Given the description of an element on the screen output the (x, y) to click on. 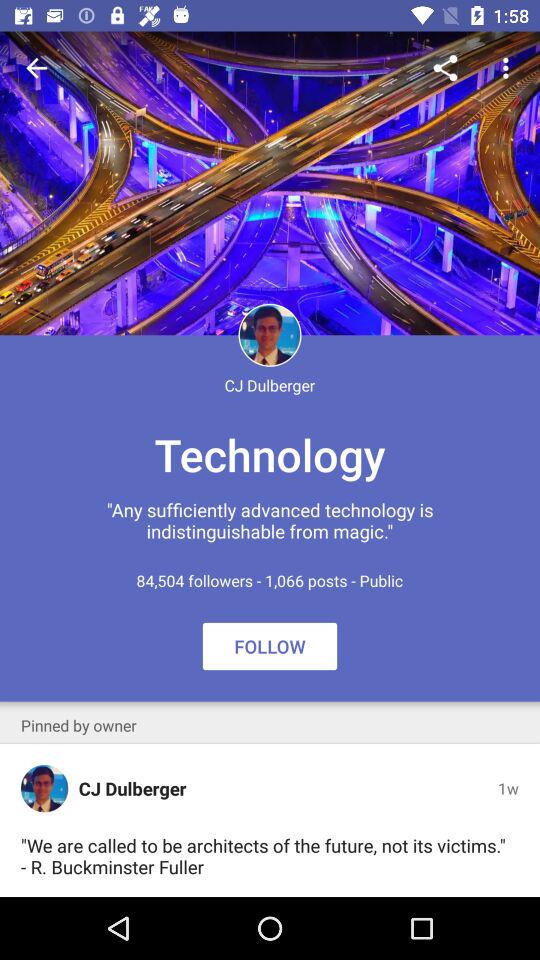
turn off the icon above the technology (36, 68)
